Given the description of an element on the screen output the (x, y) to click on. 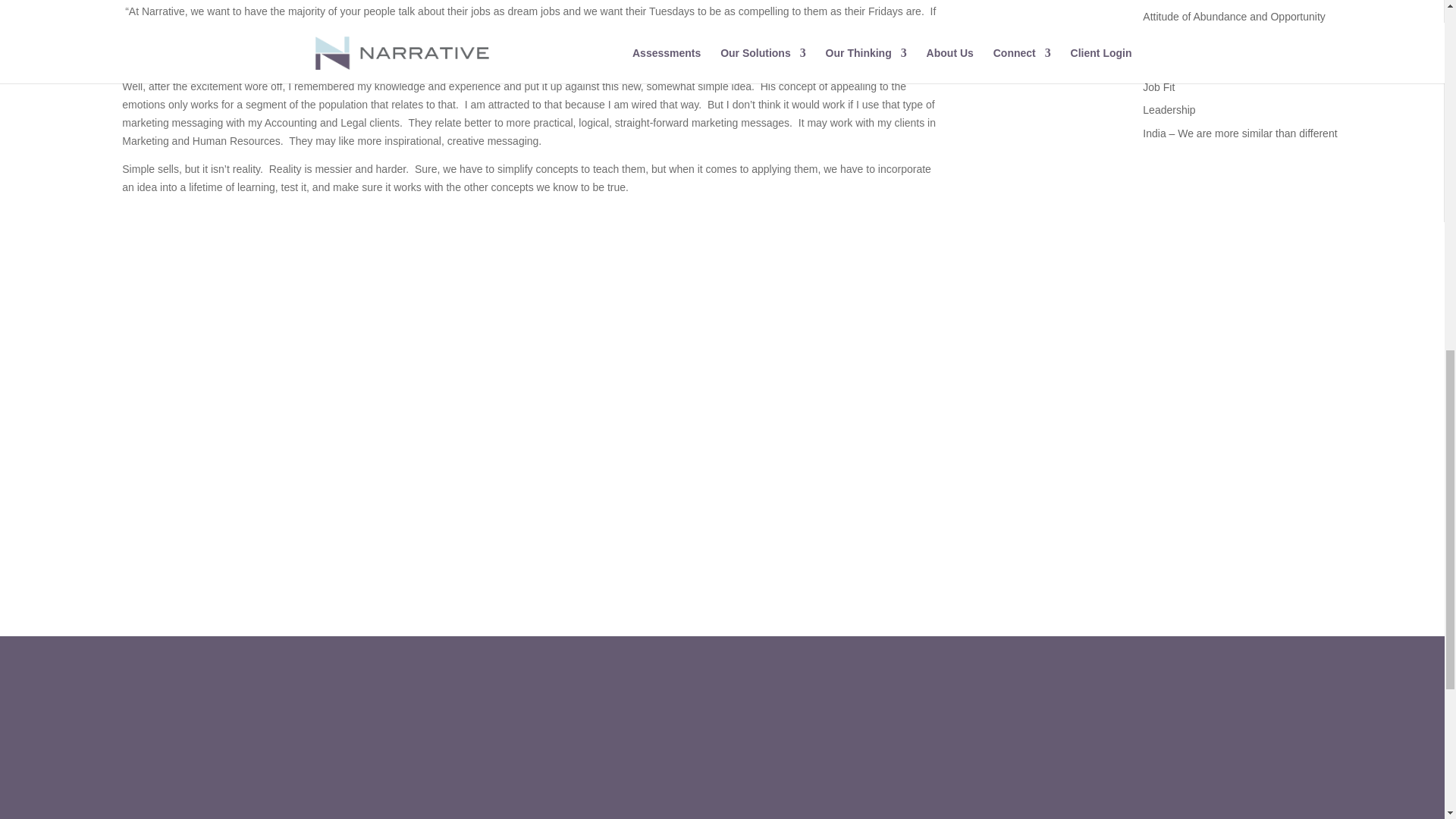
Attitude of Abundance and Opportunity (1233, 16)
